Given the description of an element on the screen output the (x, y) to click on. 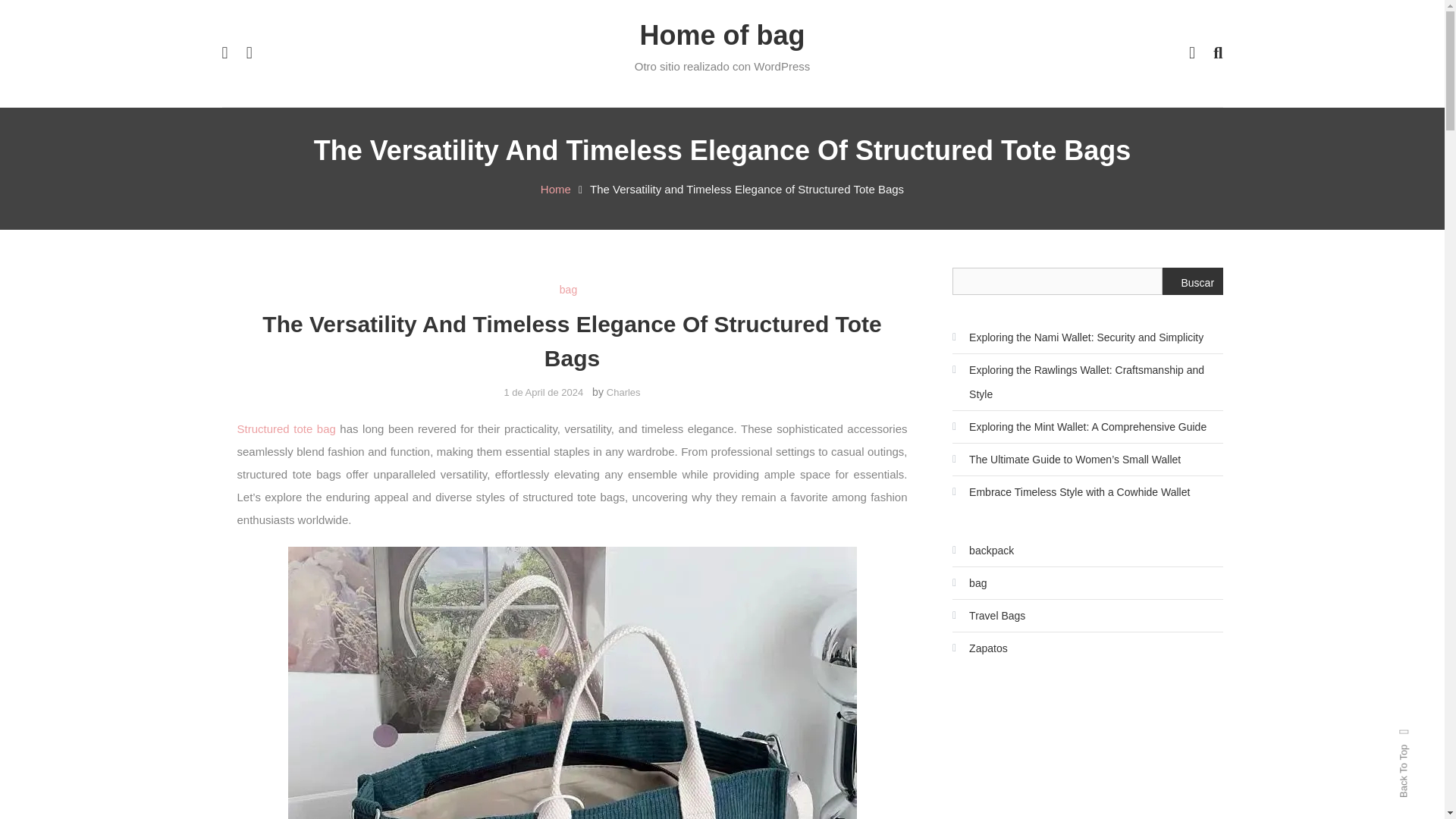
Home (555, 188)
Structured tote bag (284, 428)
bag (567, 289)
Search (768, 432)
Home of bag (722, 34)
Charles (623, 392)
1 de April de 2024 (543, 392)
